Given the description of an element on the screen output the (x, y) to click on. 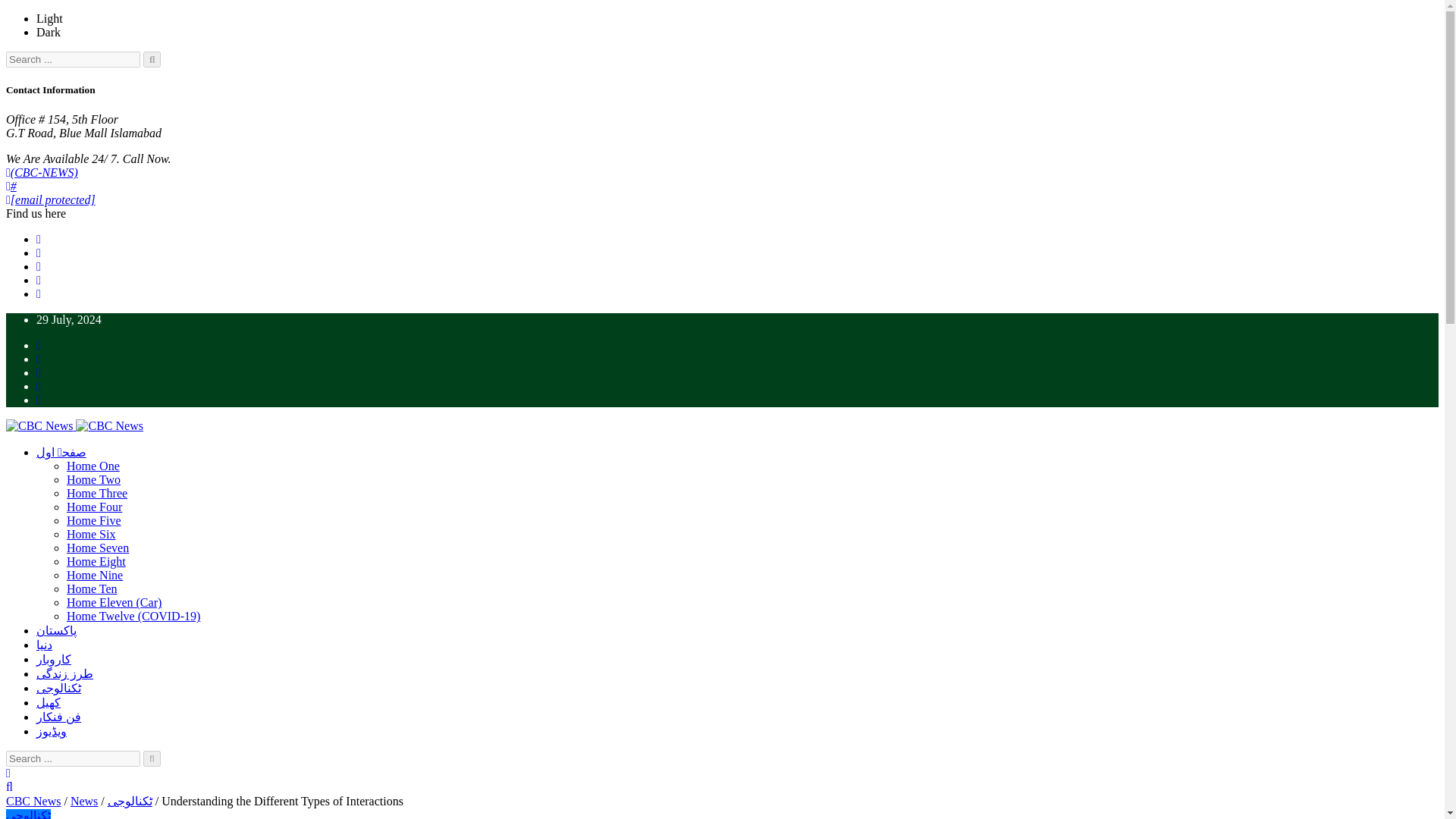
Home Eight (95, 561)
Home Nine (94, 574)
Home Seven (97, 547)
Dark Mode (48, 31)
Dark (48, 31)
Home Ten (91, 588)
Home Four (94, 506)
Go to CBC News. (33, 800)
Home Two (93, 479)
Home One (92, 465)
Light (49, 18)
Go to News. (83, 800)
Home Three (97, 492)
Light Mode (49, 18)
Home Six (90, 533)
